Given the description of an element on the screen output the (x, y) to click on. 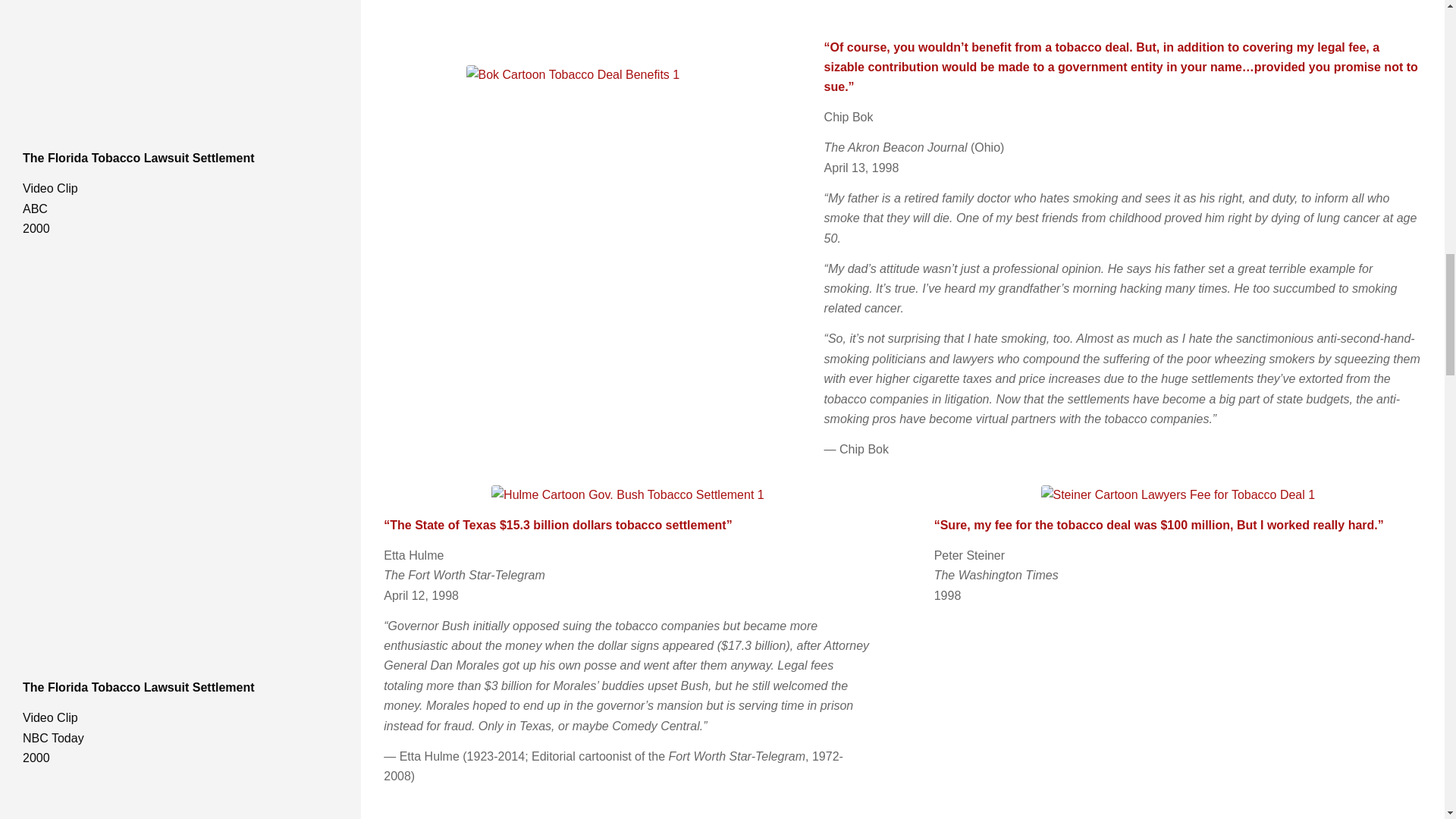
Steiner Cartoon Lawyers Fee for Tobacco Deal 1 (1177, 495)
Hulme Cartoon Gov. Bush Tobacco Settlement 1 (628, 495)
Bok Cartoon Tobacco Deal Benefits 1 (572, 75)
